Given the description of an element on the screen output the (x, y) to click on. 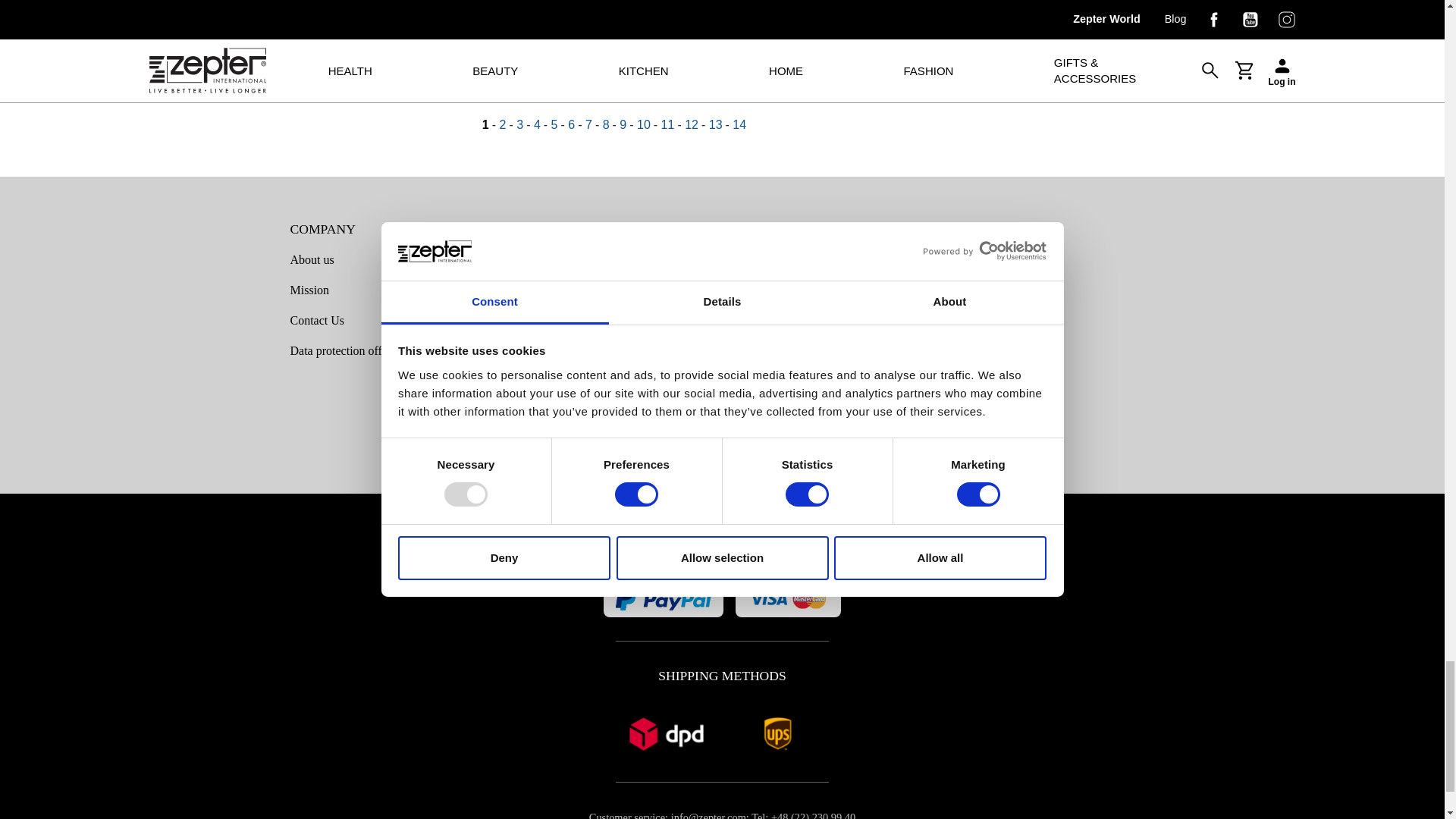
Visa master card (788, 598)
Visa master card (662, 598)
